Given the description of an element on the screen output the (x, y) to click on. 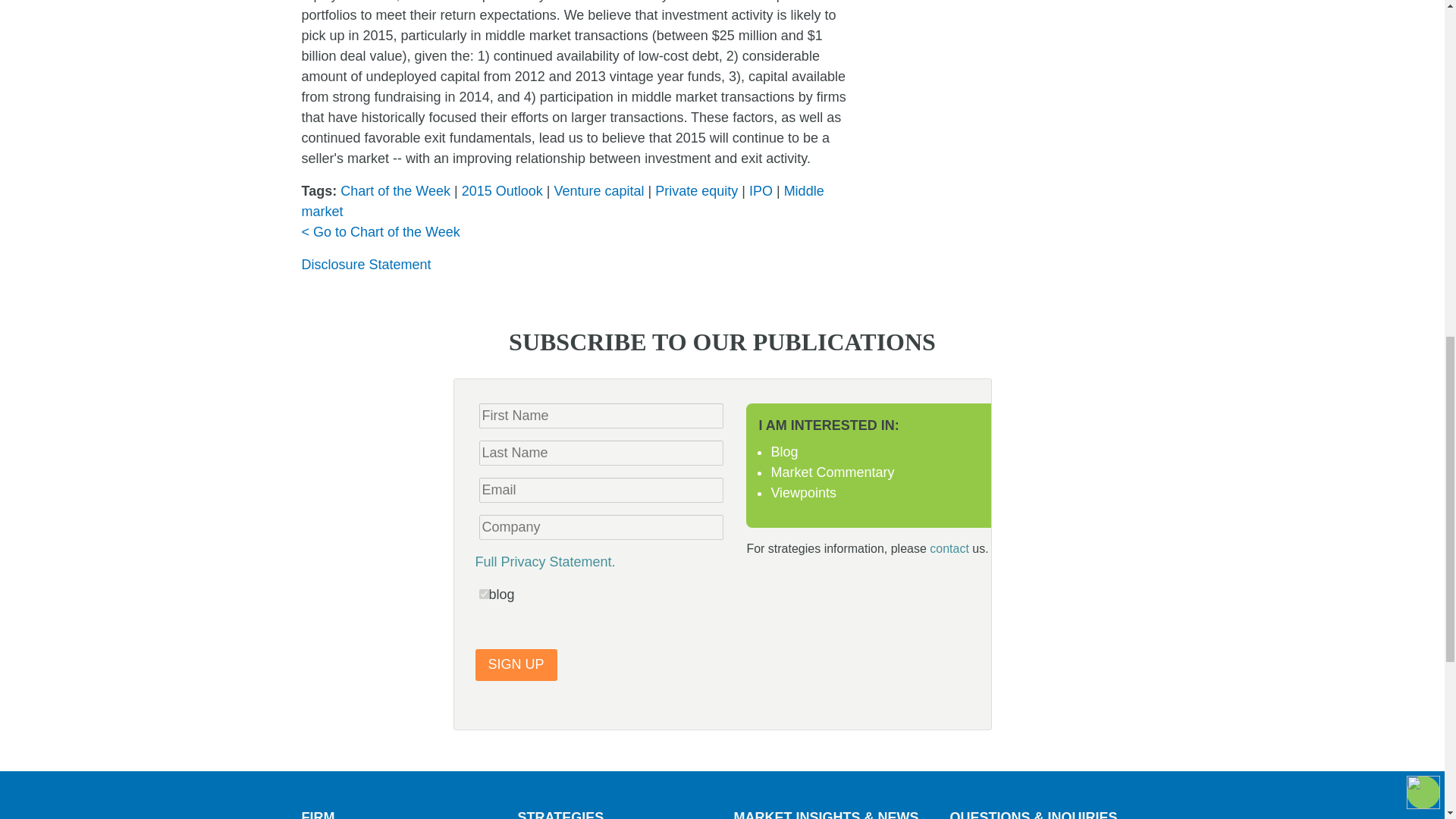
Company (601, 527)
blog (484, 593)
Sign Up (515, 664)
First Name (601, 415)
Email (601, 489)
Last Name (601, 453)
blog (484, 593)
